Given the description of an element on the screen output the (x, y) to click on. 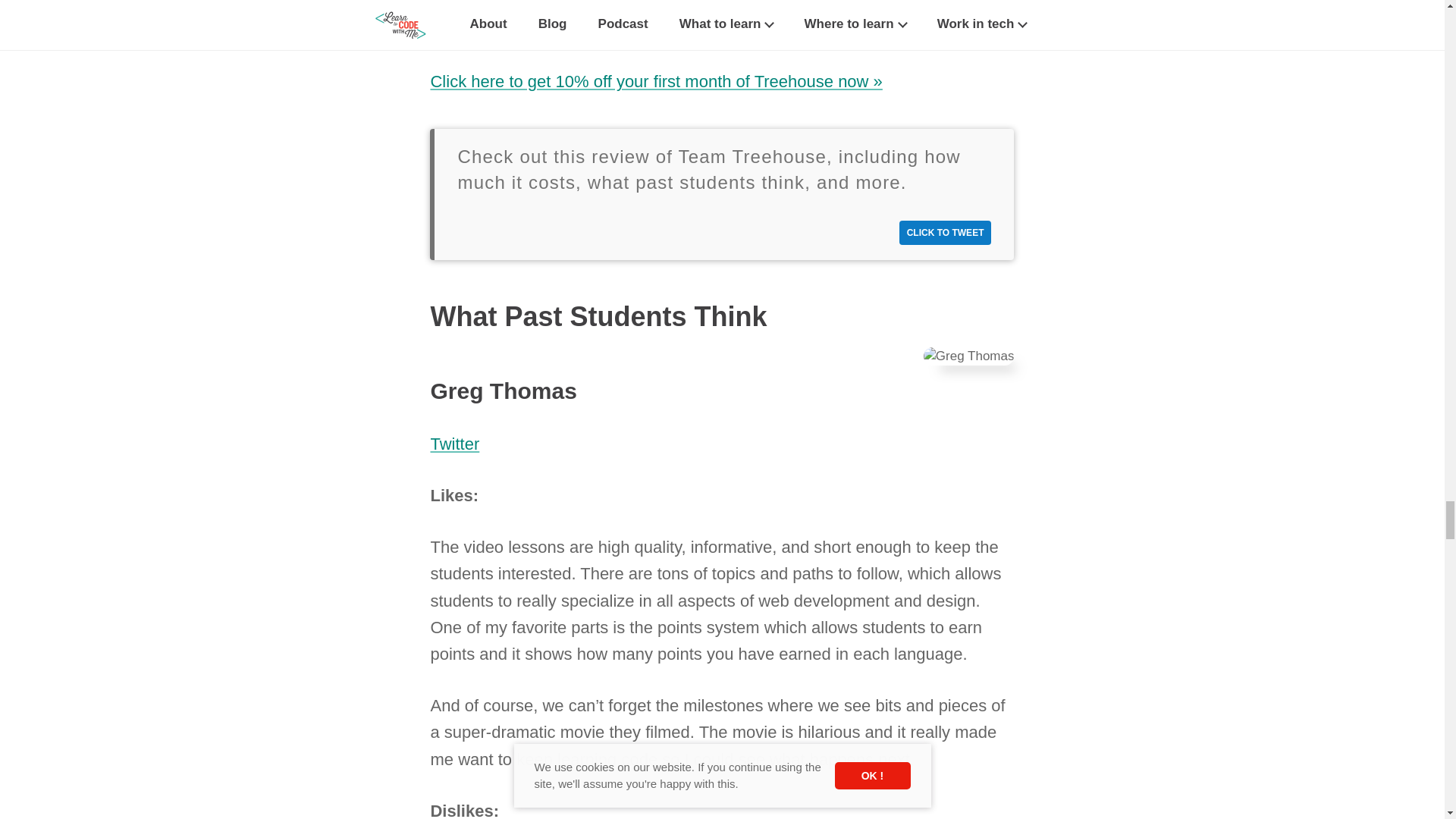
Team Treehouse - Free Trial (655, 81)
